Given the description of an element on the screen output the (x, y) to click on. 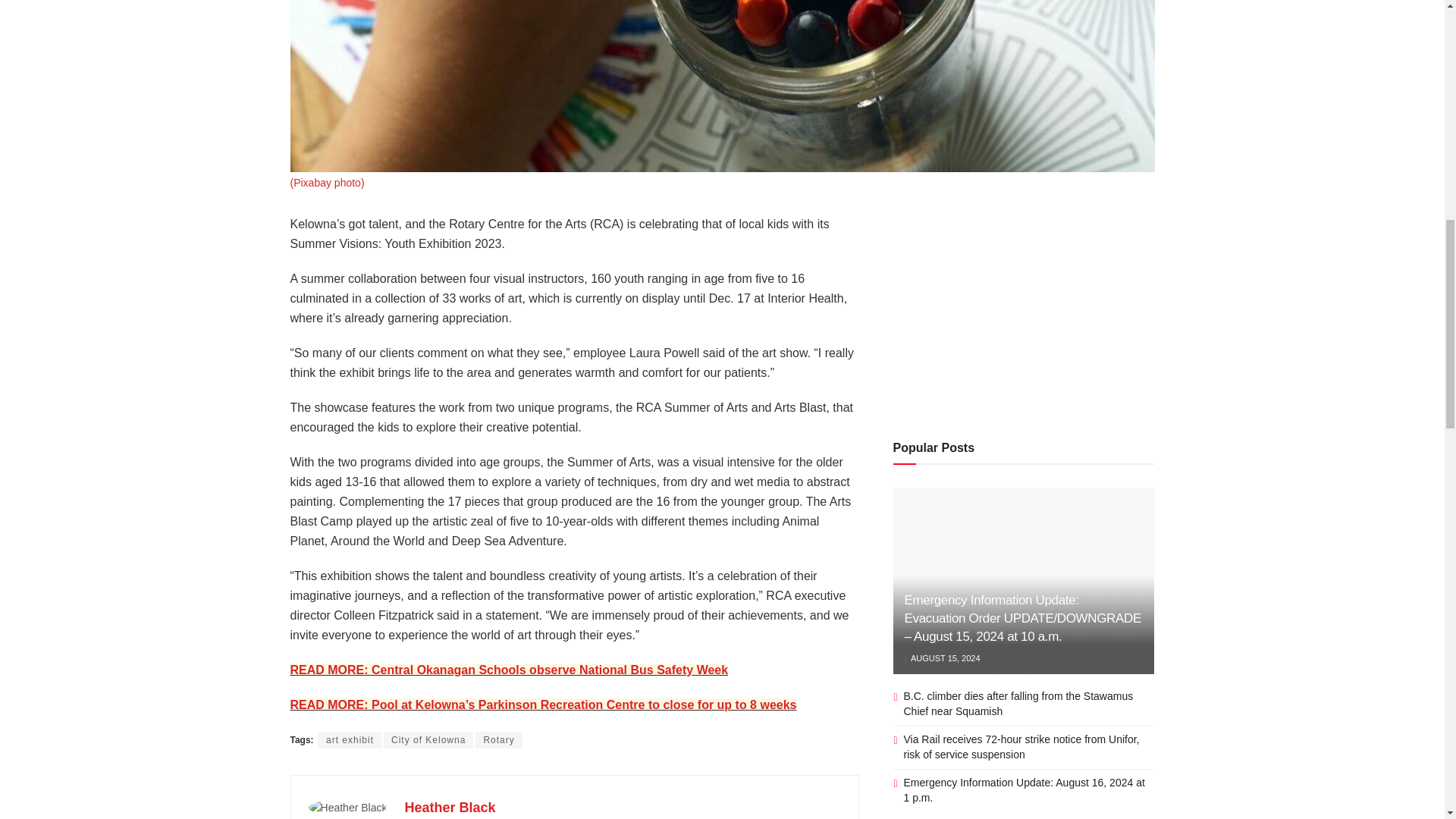
Pool at Kelowna (542, 704)
3rd party ad content (1023, 309)
art exhibit (349, 740)
Central Okanagan Schools observe National Bus Safety Week (508, 669)
